Given the description of an element on the screen output the (x, y) to click on. 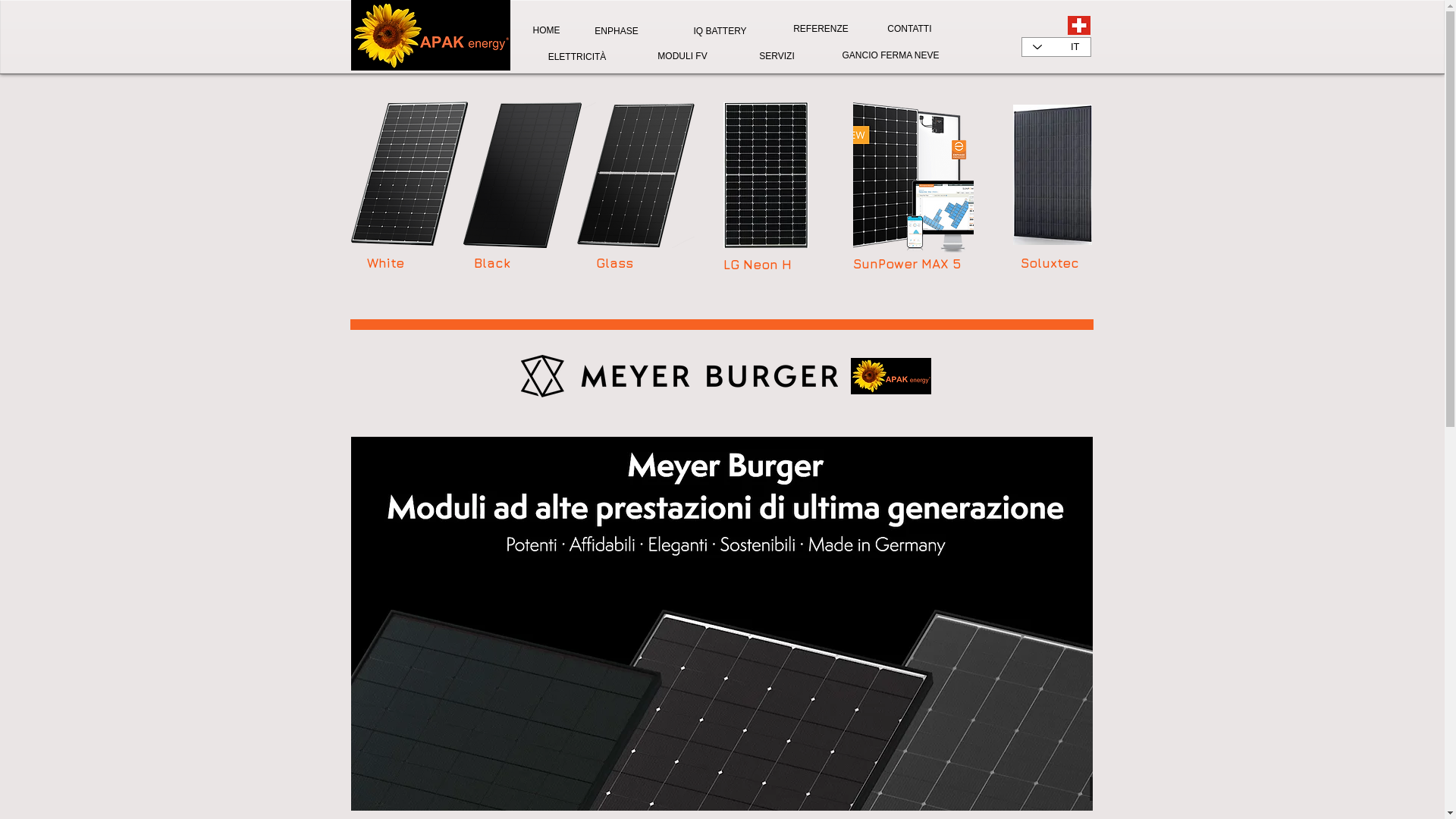
ENPHASE Element type: text (616, 30)
MODULI FV Element type: text (681, 55)
HOME Element type: text (545, 30)
IQ BATTERY Element type: text (719, 30)
SERVIZI Element type: text (776, 56)
REFERENZE Element type: text (820, 28)
GANCIO FERMA NEVE Element type: text (889, 55)
CONTATTI Element type: text (908, 28)
